Given the description of an element on the screen output the (x, y) to click on. 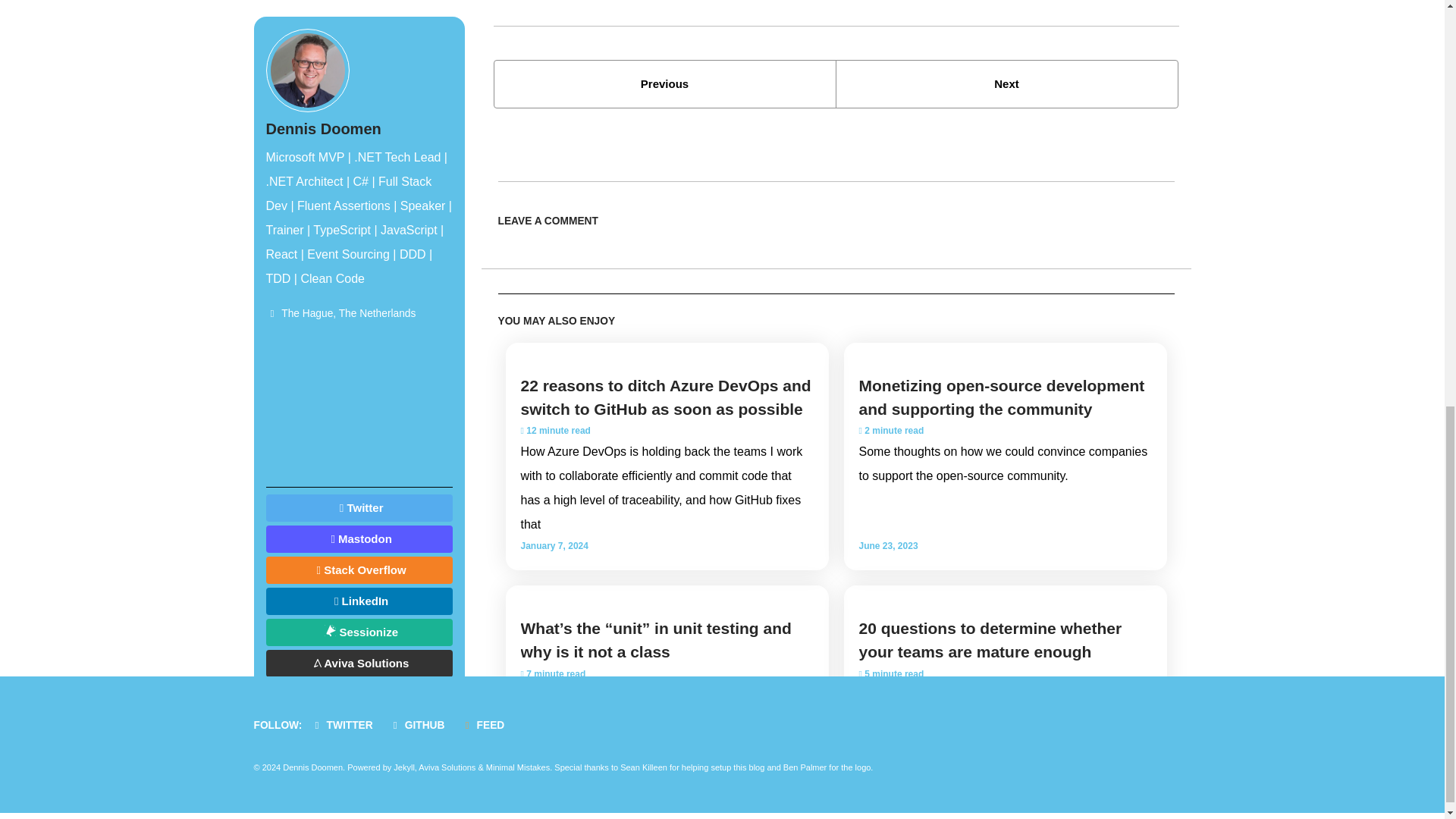
Previous (664, 83)
Jekyll (403, 767)
Aviva Solutions (447, 767)
Minimal Mistakes (518, 767)
GITHUB (420, 725)
Sean Killeen (643, 767)
TWITTER (345, 725)
